Given the description of an element on the screen output the (x, y) to click on. 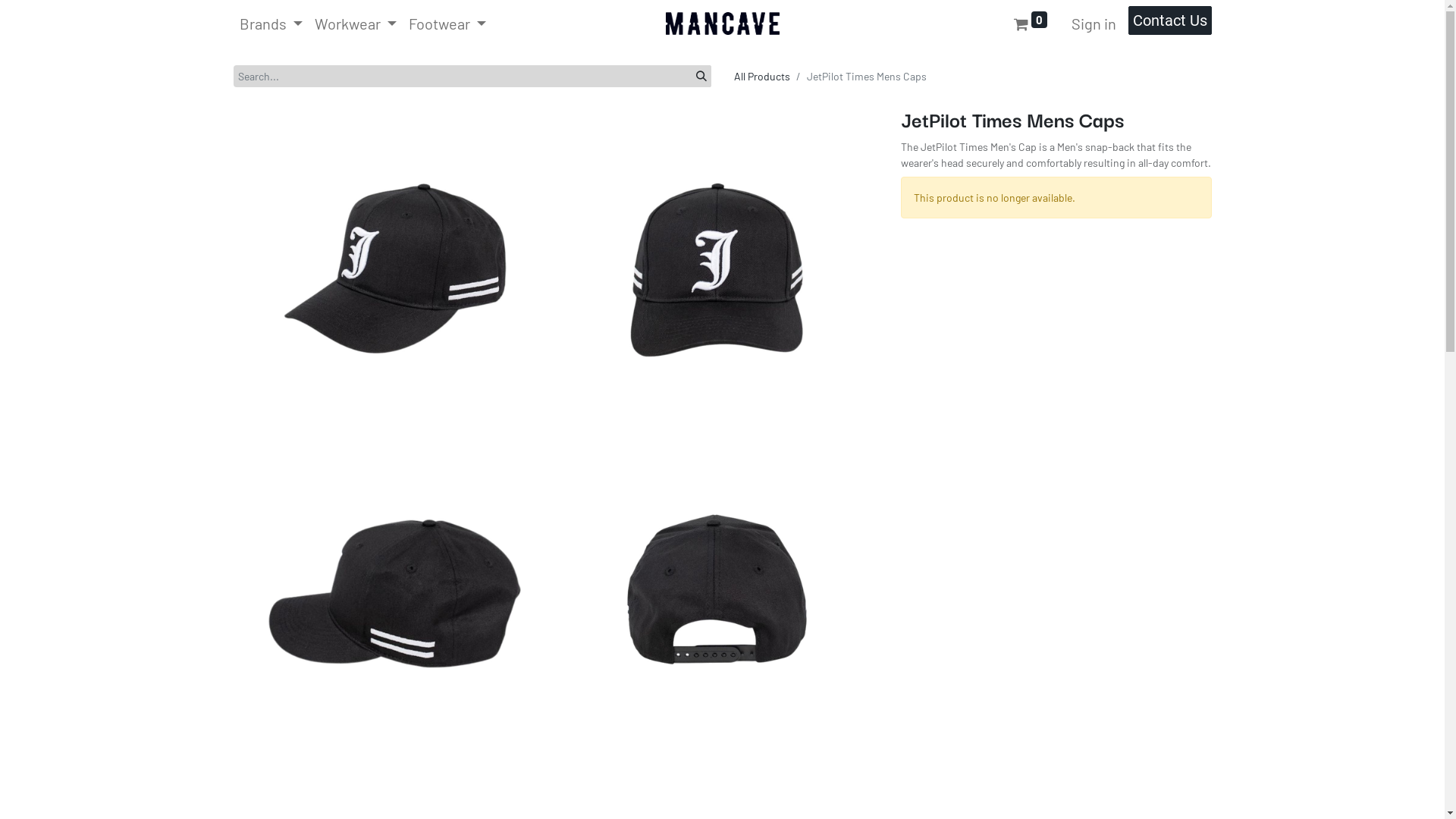
Search Element type: hover (701, 76)
Footwear Element type: text (447, 23)
0 Element type: text (1029, 23)
Workwear Element type: text (355, 23)
Man Cave Workwear Element type: hover (722, 23)
Contact Us Element type: text (1169, 20)
Brands Element type: text (270, 23)
Sign in Element type: text (1092, 23)
All Products Element type: text (762, 75)
